Given the description of an element on the screen output the (x, y) to click on. 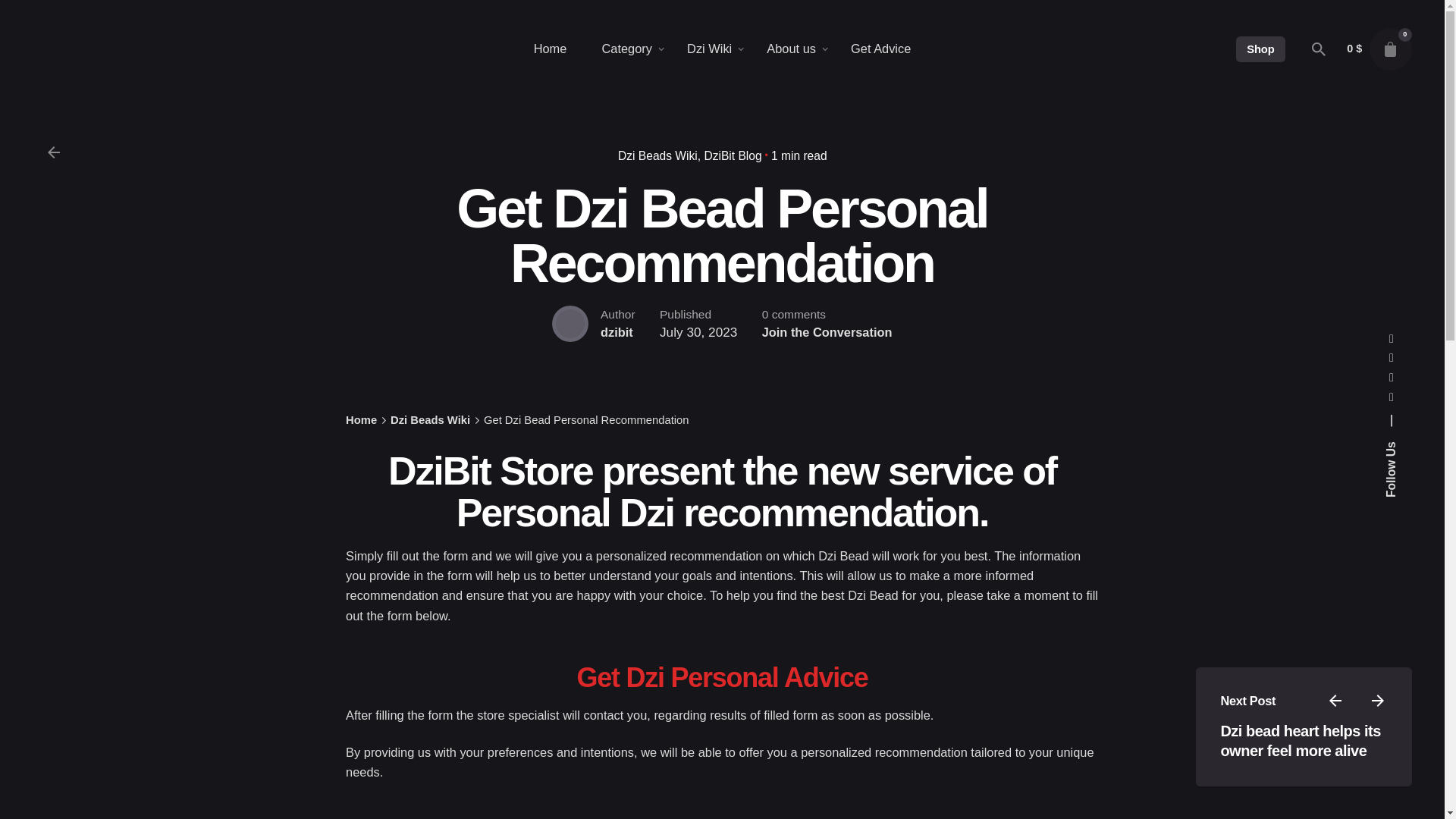
Category (626, 49)
Get Advice (880, 49)
Get Dzi Bead Suggestion (721, 676)
Home (550, 49)
About us (790, 49)
Dzi Wiki (709, 49)
